Given the description of an element on the screen output the (x, y) to click on. 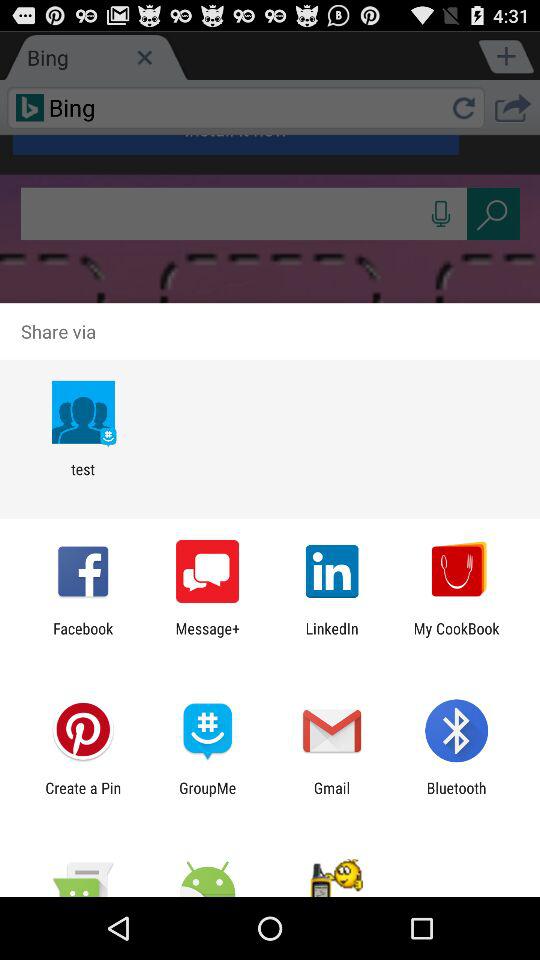
select icon to the left of the my cookbook icon (331, 637)
